Given the description of an element on the screen output the (x, y) to click on. 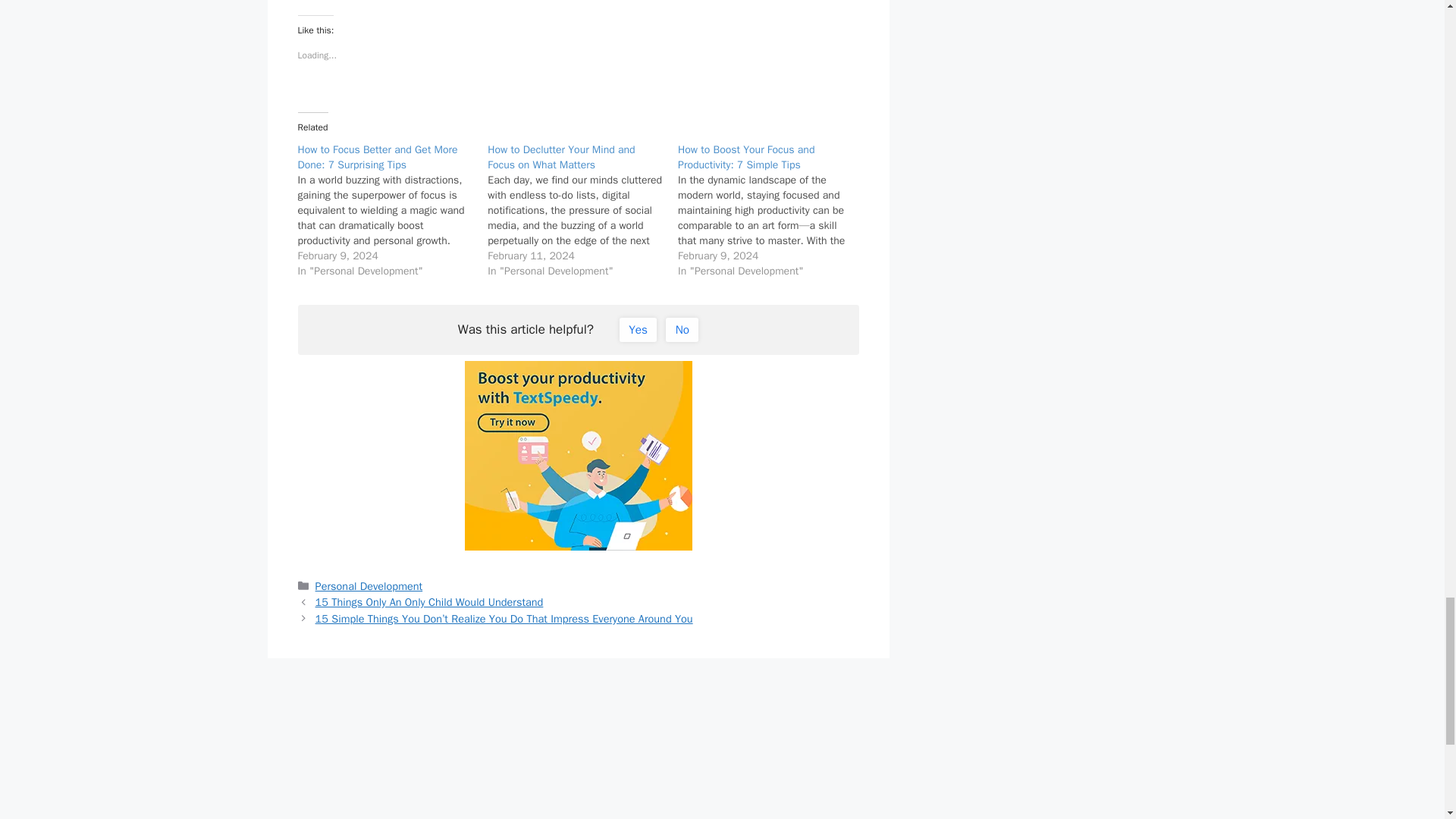
How to Declutter Your Mind and Focus on What Matters (560, 157)
15 Things Only An Only Child Would Understand (429, 602)
Personal Development (369, 585)
How to Boost Your Focus and Productivity: 7 Simple Tips (745, 157)
How to Focus Better and Get More Done: 7 Surprising Tips (377, 157)
How to Declutter Your Mind and Focus on What Matters (582, 210)
How to Focus Better and Get More Done: 7 Surprising Tips (392, 210)
How to Focus Better and Get More Done: 7 Surprising Tips (377, 157)
How to Boost Your Focus and Productivity: 7 Simple Tips (772, 210)
How to Declutter Your Mind and Focus on What Matters (560, 157)
How to Boost Your Focus and Productivity: 7 Simple Tips (745, 157)
